Given the description of an element on the screen output the (x, y) to click on. 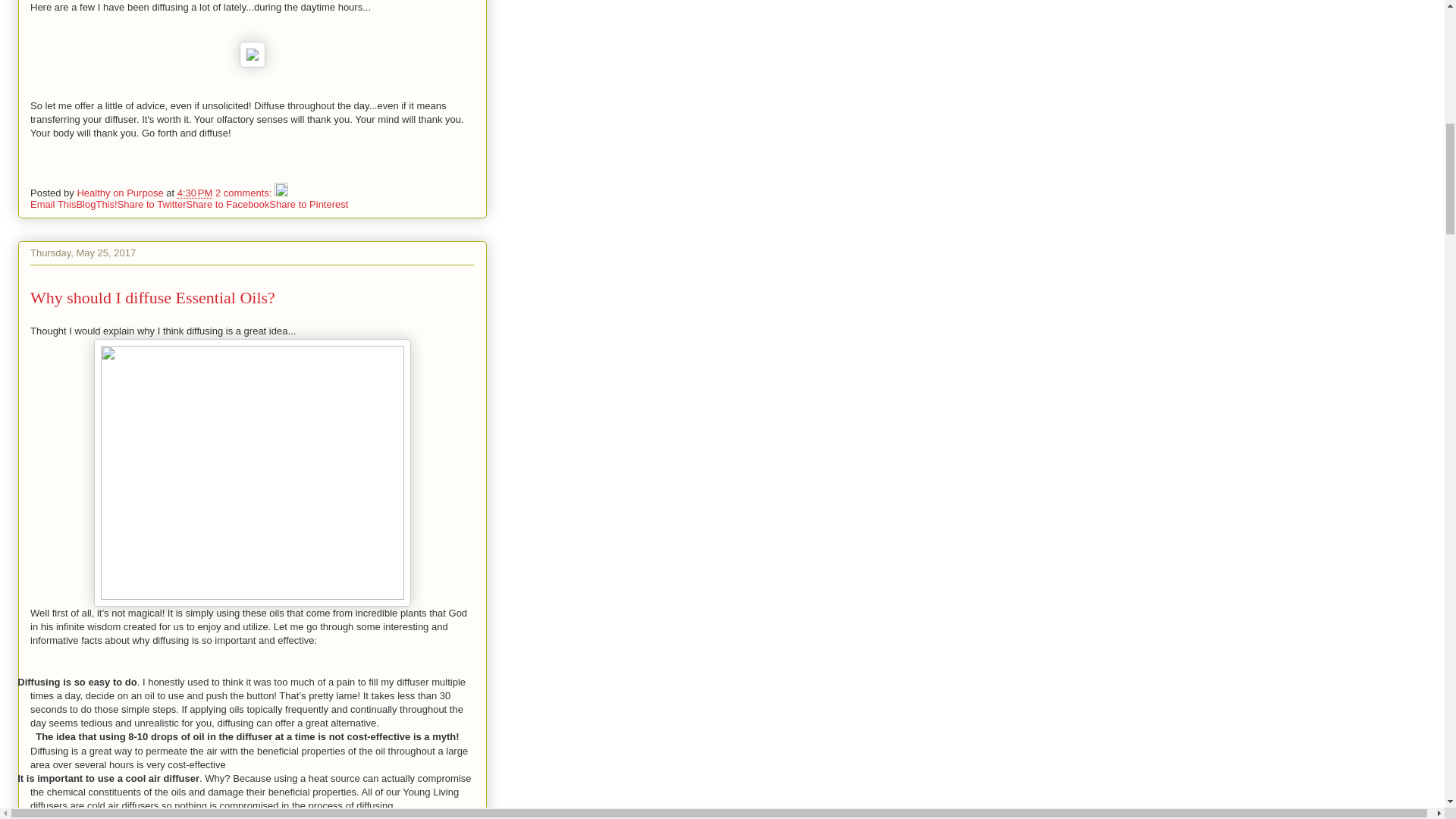
permanent link (194, 193)
author profile (121, 193)
Share to Facebook (227, 204)
Share to Pinterest (308, 204)
Why should I diffuse Essential Oils? (152, 297)
Share to Twitter (151, 204)
BlogThis! (95, 204)
Share to Pinterest (308, 204)
Email This (52, 204)
Share to Facebook (227, 204)
2 comments: (245, 193)
Healthy on Purpose (121, 193)
BlogThis! (95, 204)
Email This (52, 204)
